Given the description of an element on the screen output the (x, y) to click on. 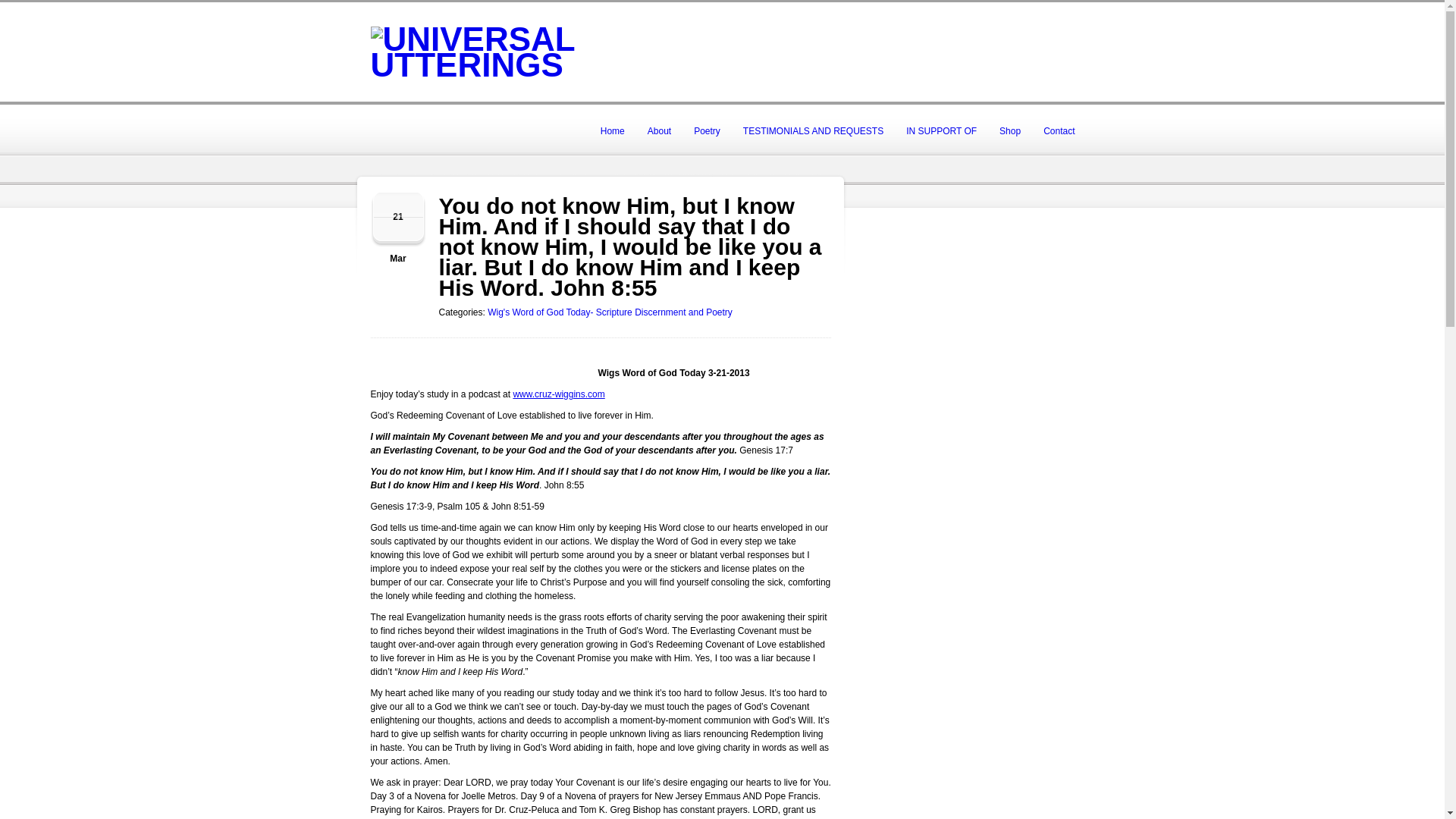
IN SUPPORT OF (941, 130)
About (659, 130)
www.cruz-wiggins.com (558, 394)
Wig's Word of God Today- Scripture Discernment and Poetry (609, 312)
TESTIMONIALS AND REQUESTS (813, 130)
Home (612, 130)
Contact (1059, 130)
Poetry (707, 130)
